Given the description of an element on the screen output the (x, y) to click on. 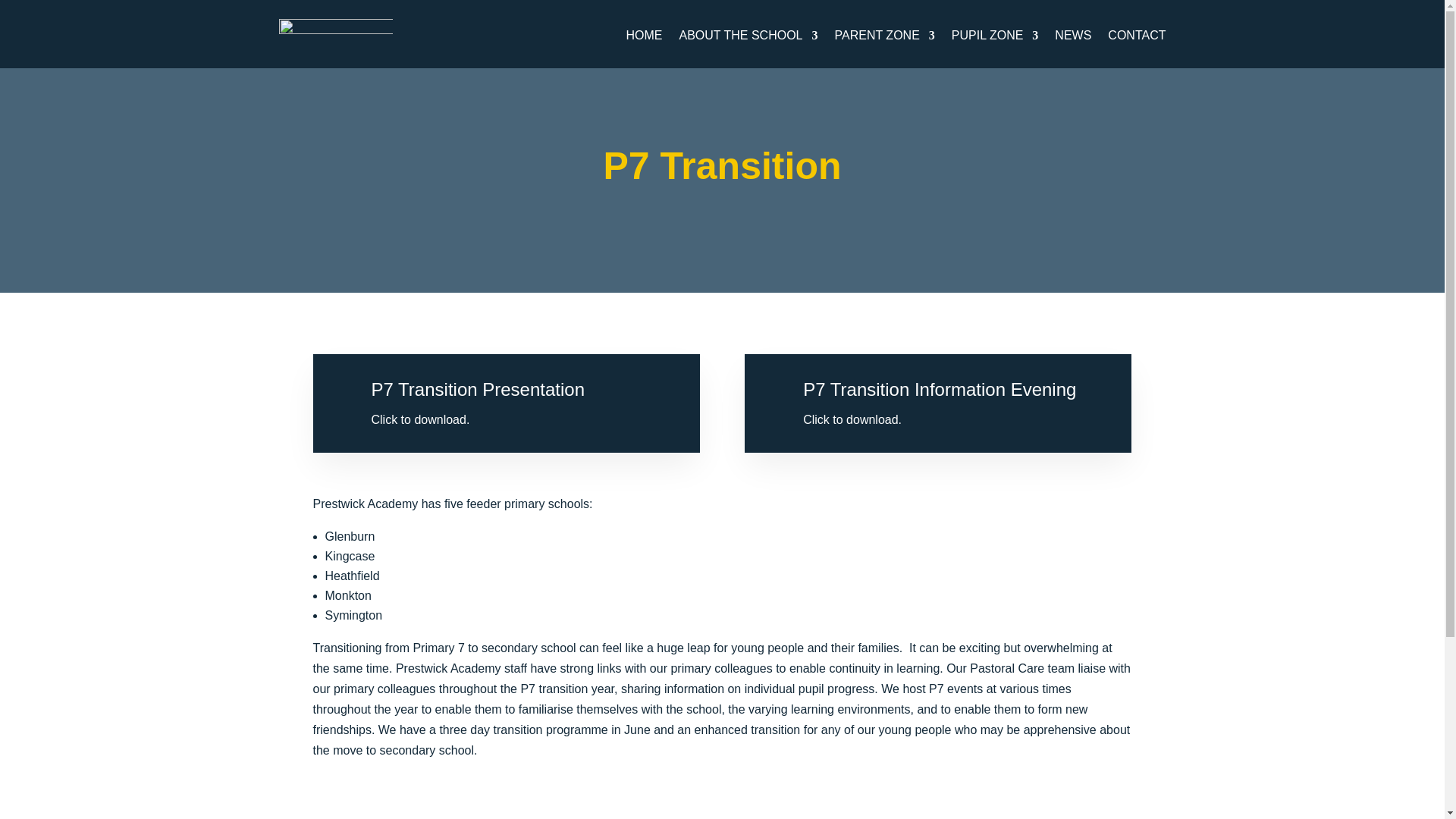
PUPIL ZONE (995, 38)
Prestwick-Academy-logo-400px (336, 35)
ABOUT THE SCHOOL (748, 38)
P7 Transition Information Evening (939, 389)
NEWS (1072, 38)
CONTACT (1137, 38)
P7 Transition Presentation (478, 389)
HOME (644, 38)
PARENT ZONE (884, 38)
